Given the description of an element on the screen output the (x, y) to click on. 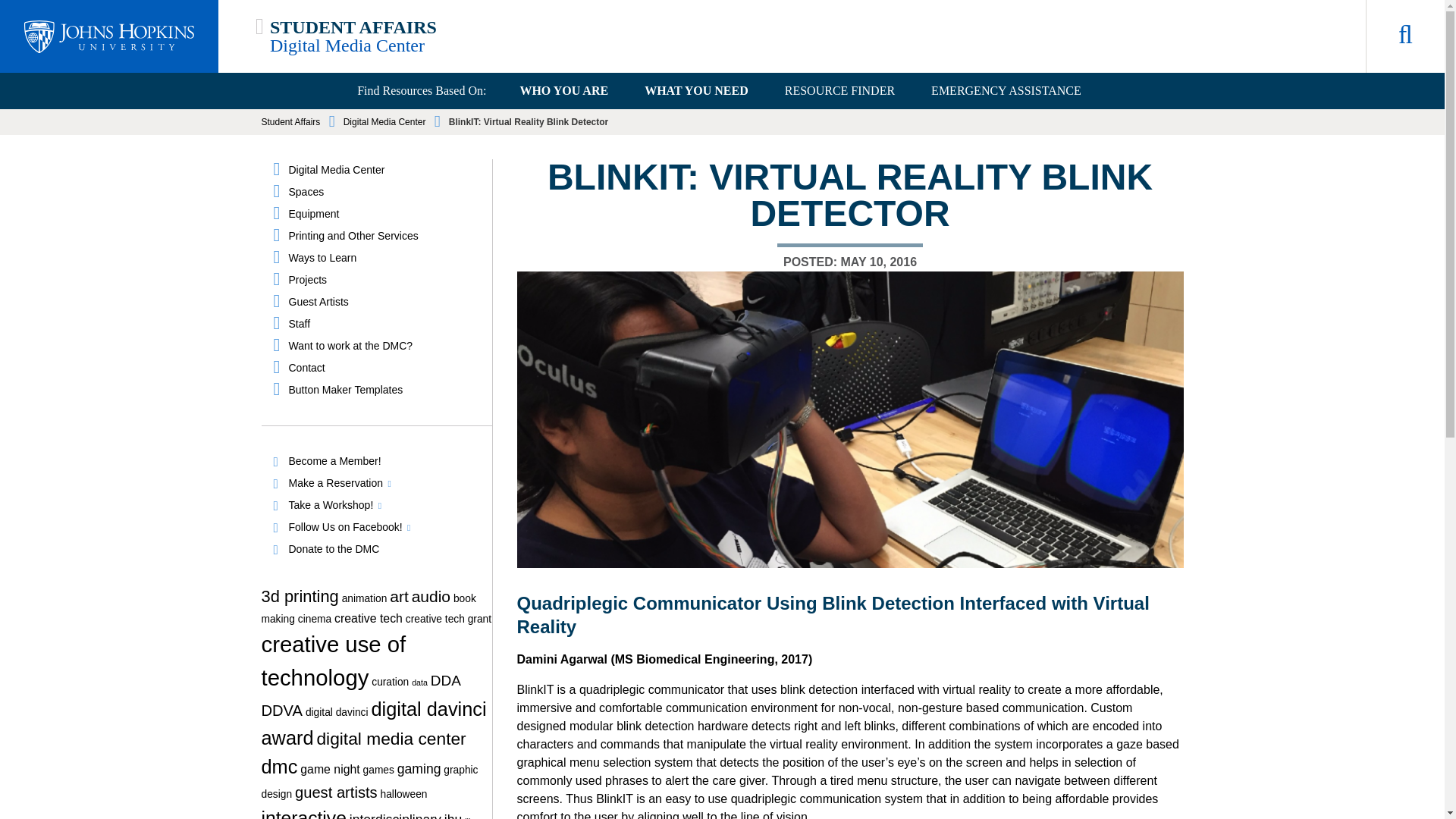
Digital Media Center (347, 45)
Student Affairs (290, 122)
Spaces (383, 191)
WHO YOU ARE (563, 90)
EMERGENCY ASSISTANCE (1005, 90)
Digital Media Center (383, 170)
STUDENT AFFAIRS (352, 26)
WHAT YOU NEED (696, 90)
Equipment (383, 213)
Printing and Other Services (383, 236)
